Given the description of an element on the screen output the (x, y) to click on. 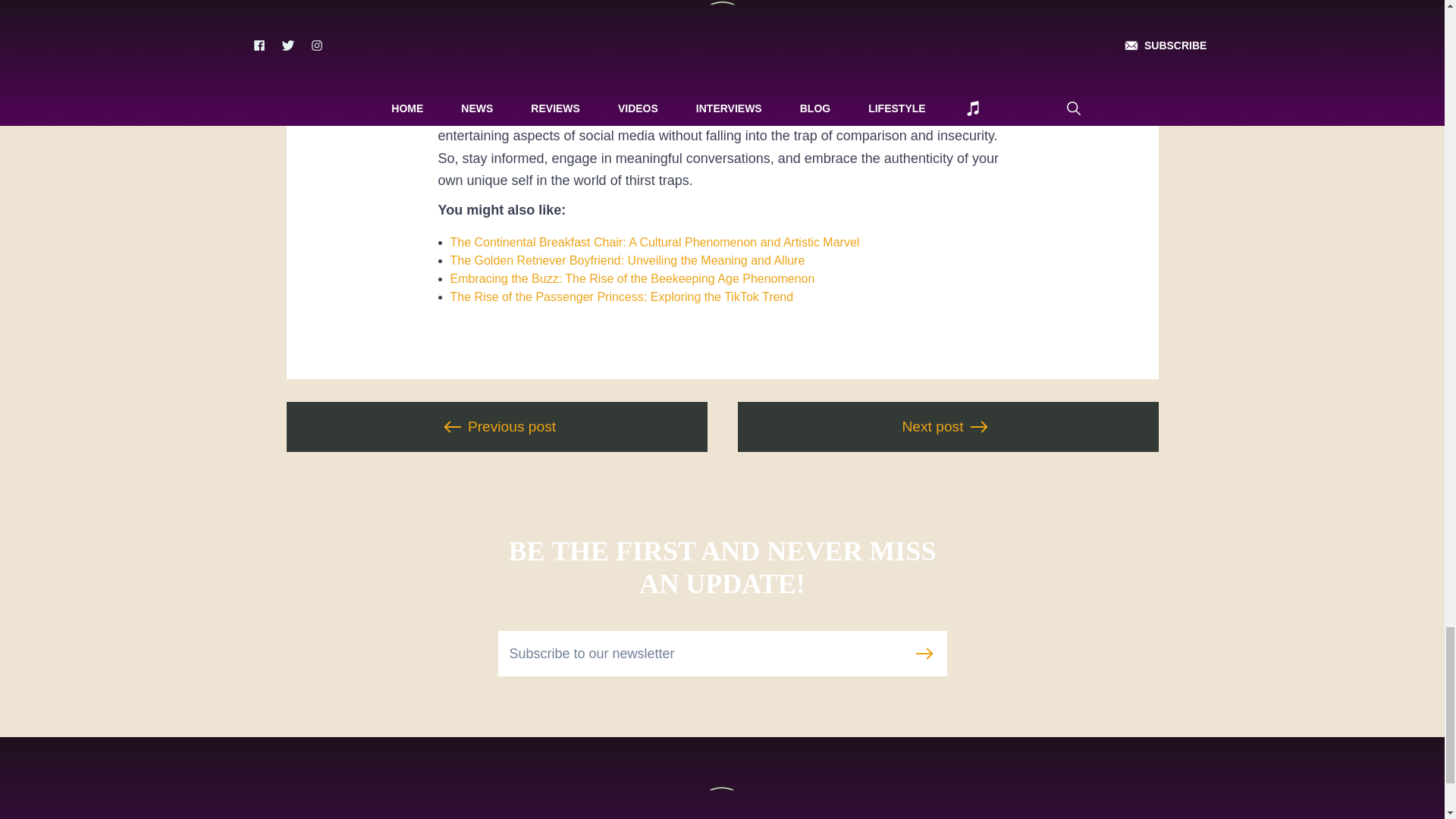
Next post (946, 427)
Previous post (496, 427)
